Given the description of an element on the screen output the (x, y) to click on. 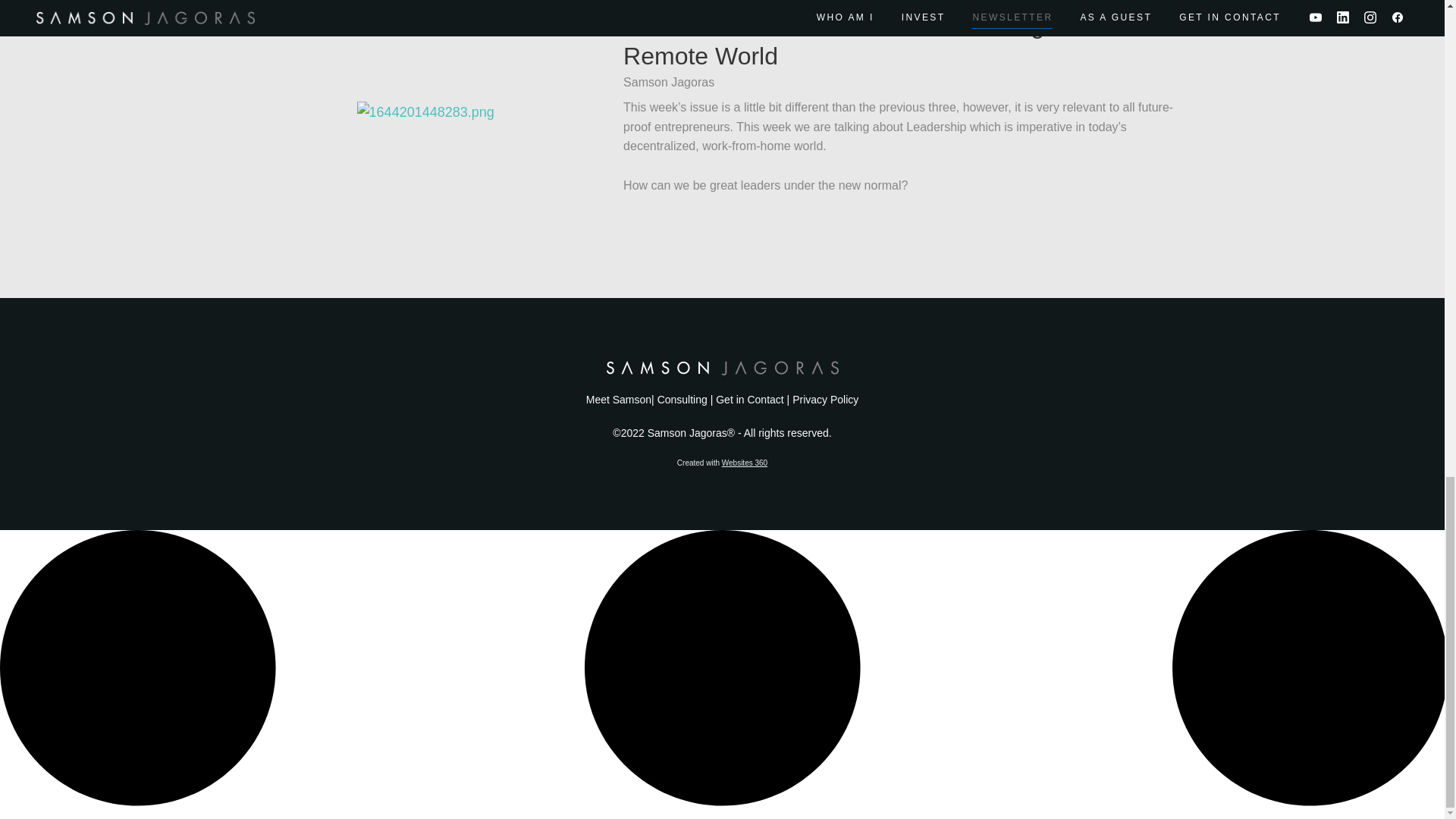
Privacy Policy (825, 399)
Get in Contact (750, 399)
Meet Samson (618, 399)
Created with Websites 360 (722, 462)
